Given the description of an element on the screen output the (x, y) to click on. 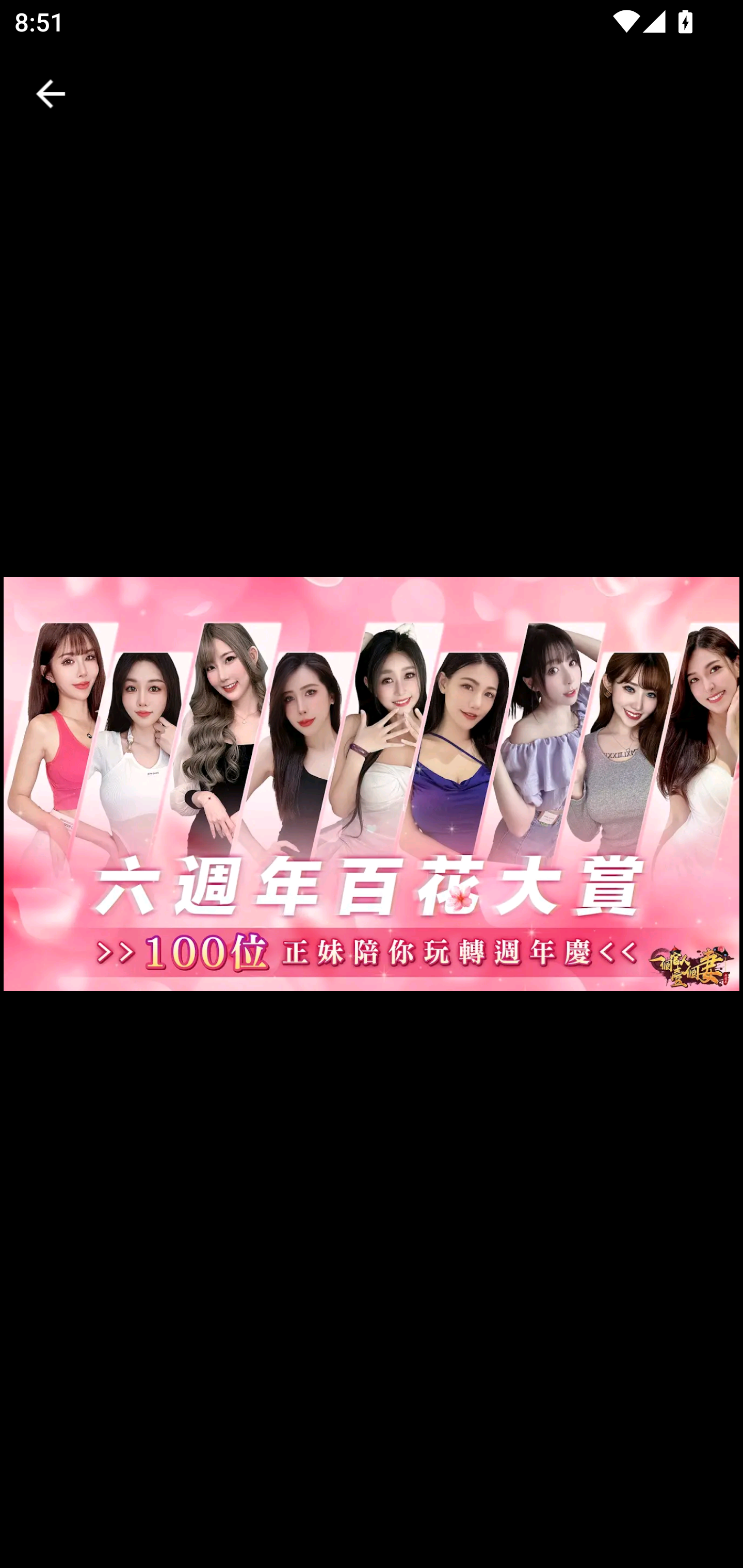
Back (50, 93)
